Given the description of an element on the screen output the (x, y) to click on. 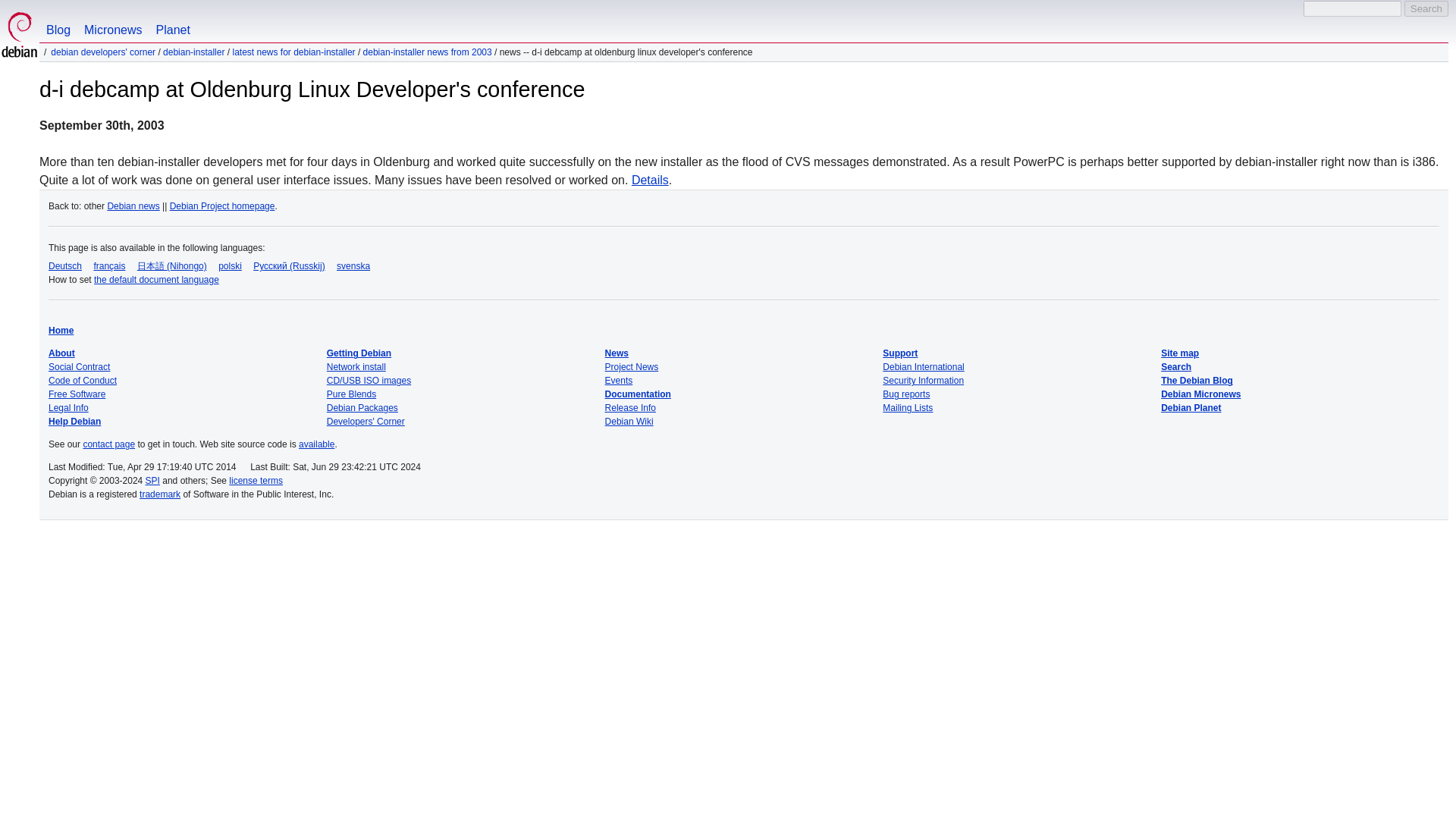
Debian Wiki (629, 421)
debian-installer news from 2003 (427, 51)
Details (649, 179)
latest news for debian-installer (293, 51)
svenska (352, 266)
Home (61, 330)
Social Contract (79, 366)
Code of Conduct (82, 380)
Debian news (132, 205)
Search (1426, 8)
News (616, 353)
Debian Packages (361, 407)
Search (1426, 8)
Japanese (171, 266)
Russian (288, 266)
